Given the description of an element on the screen output the (x, y) to click on. 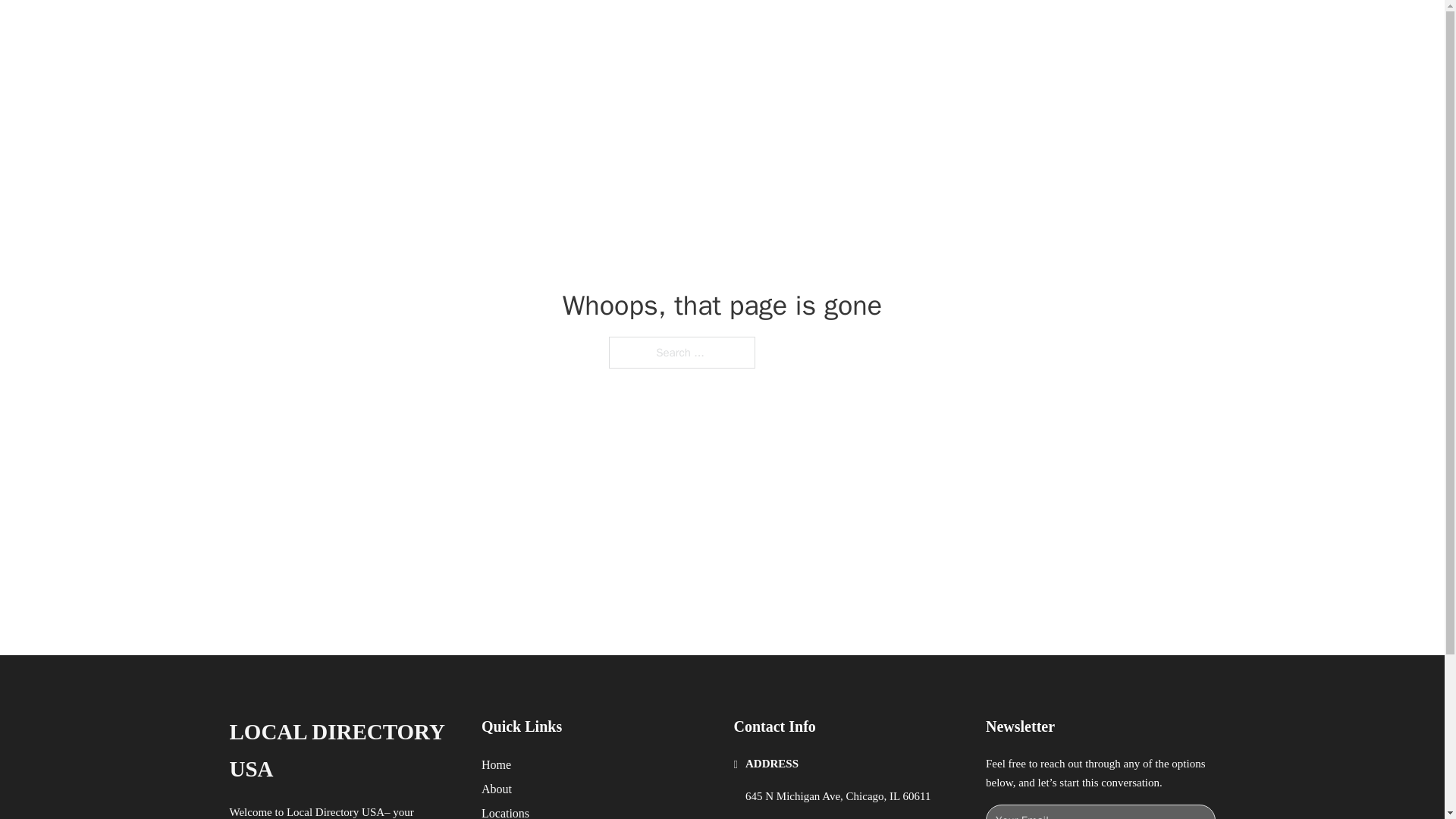
Home (496, 764)
Locations (505, 811)
LOCAL DIRECTORY USA (343, 750)
LOCATIONS (990, 29)
LOCAL DIRECTORY USA (425, 28)
HOME (919, 29)
About (496, 788)
